Given the description of an element on the screen output the (x, y) to click on. 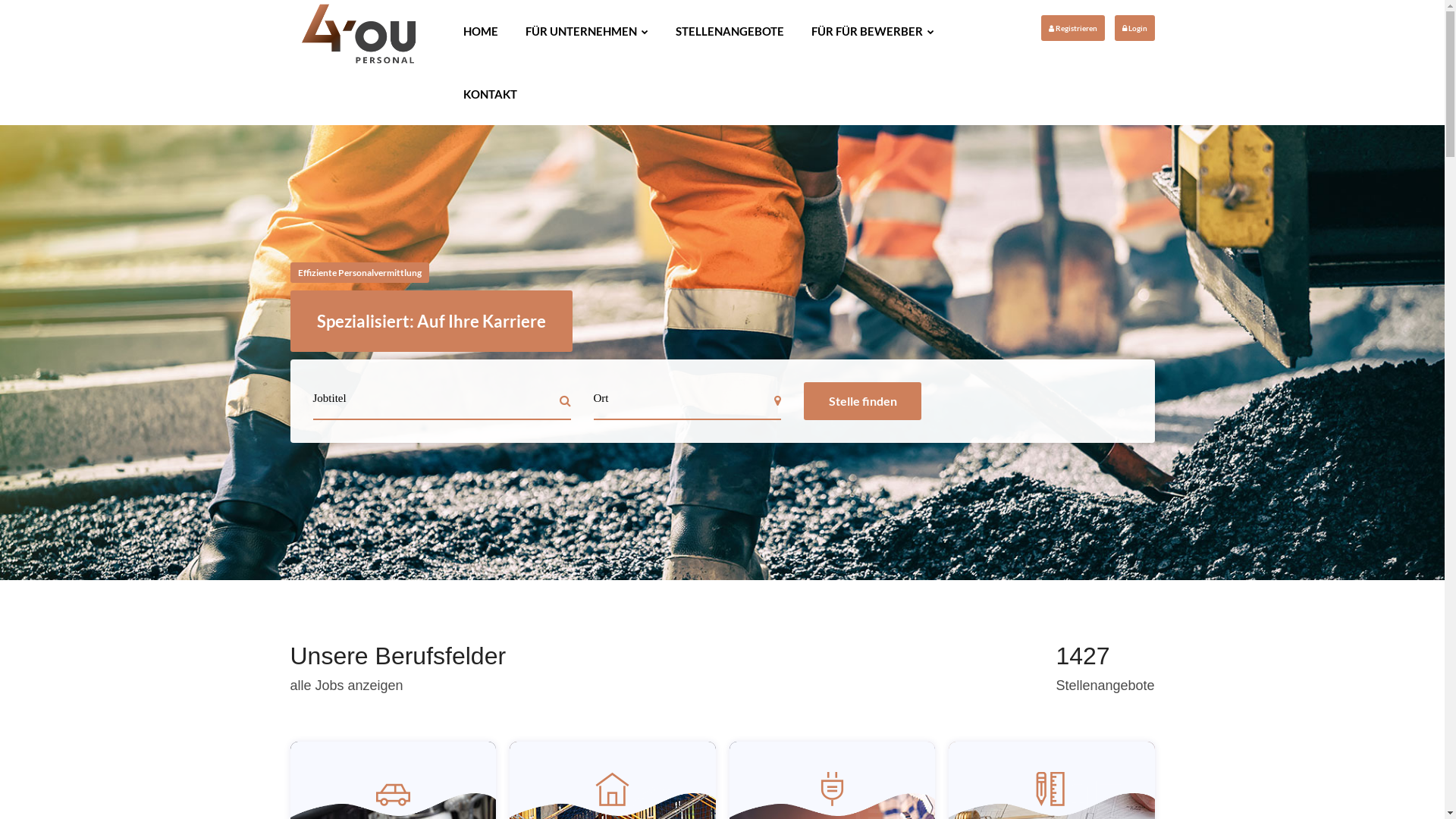
KONTAKT Element type: text (489, 93)
HOME Element type: text (480, 31)
 Login Element type: text (1134, 27)
STELLENANGEBOTE Element type: text (729, 31)
Stelle finden Element type: text (862, 401)
 Registrieren Element type: text (1072, 27)
